Given the description of an element on the screen output the (x, y) to click on. 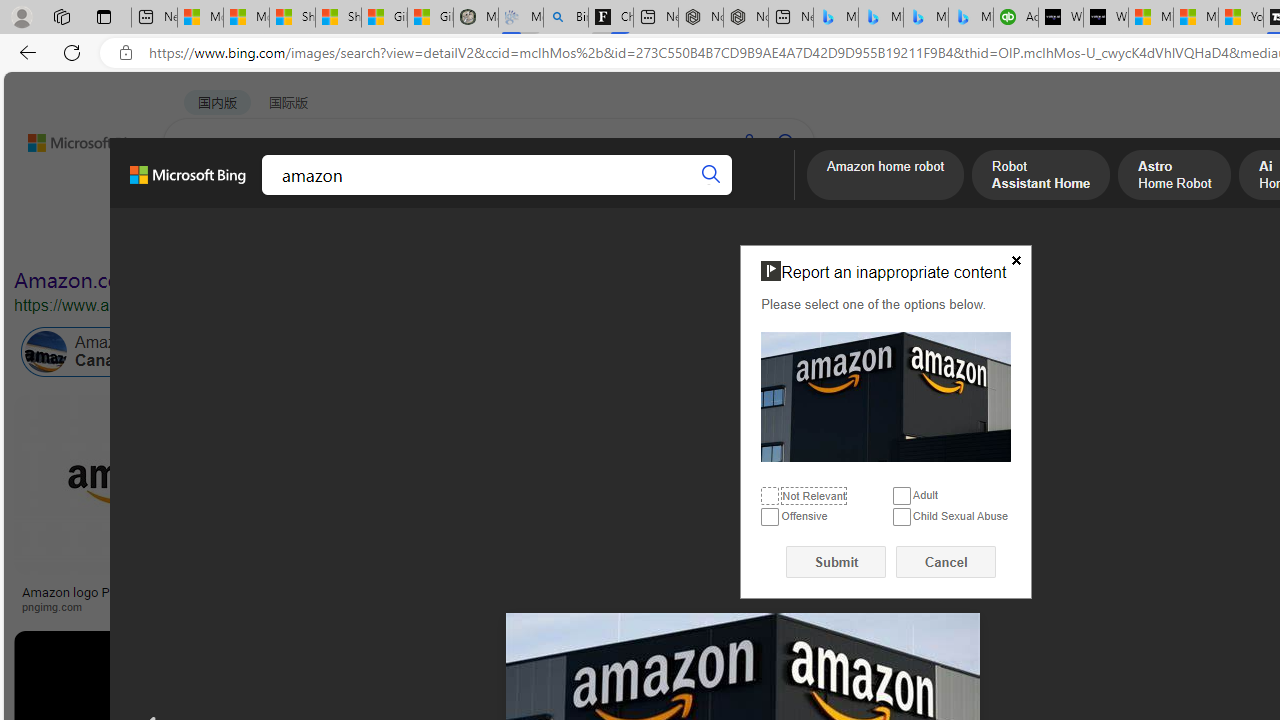
Submit (836, 561)
Amazon Prime Online (241, 351)
Search button (712, 174)
Search using voice (748, 142)
Amazon Echo Dot 4th Gen (1183, 465)
Child Sexual Abuse (901, 517)
pngimg.com (133, 606)
ACADEMIC (548, 195)
